Given the description of an element on the screen output the (x, y) to click on. 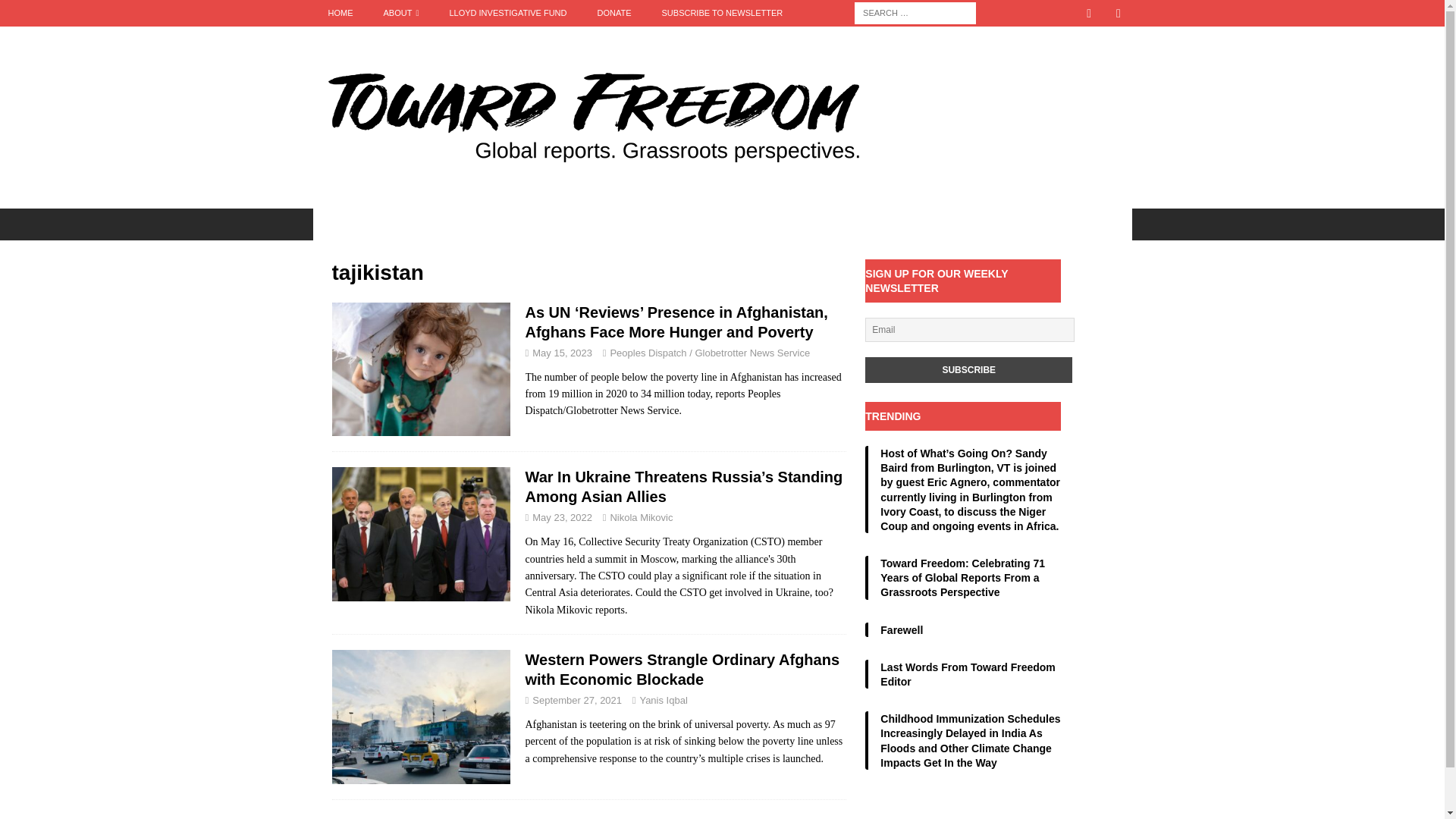
Subscribe (967, 370)
AFRICA (493, 224)
REVIEWS (880, 224)
EUROPE (711, 224)
Subscribe (967, 370)
OUR INVESTIGATIONS (385, 224)
SUBSCRIBE TO NEWSLETTER (721, 13)
ABOUT (400, 13)
